Given the description of an element on the screen output the (x, y) to click on. 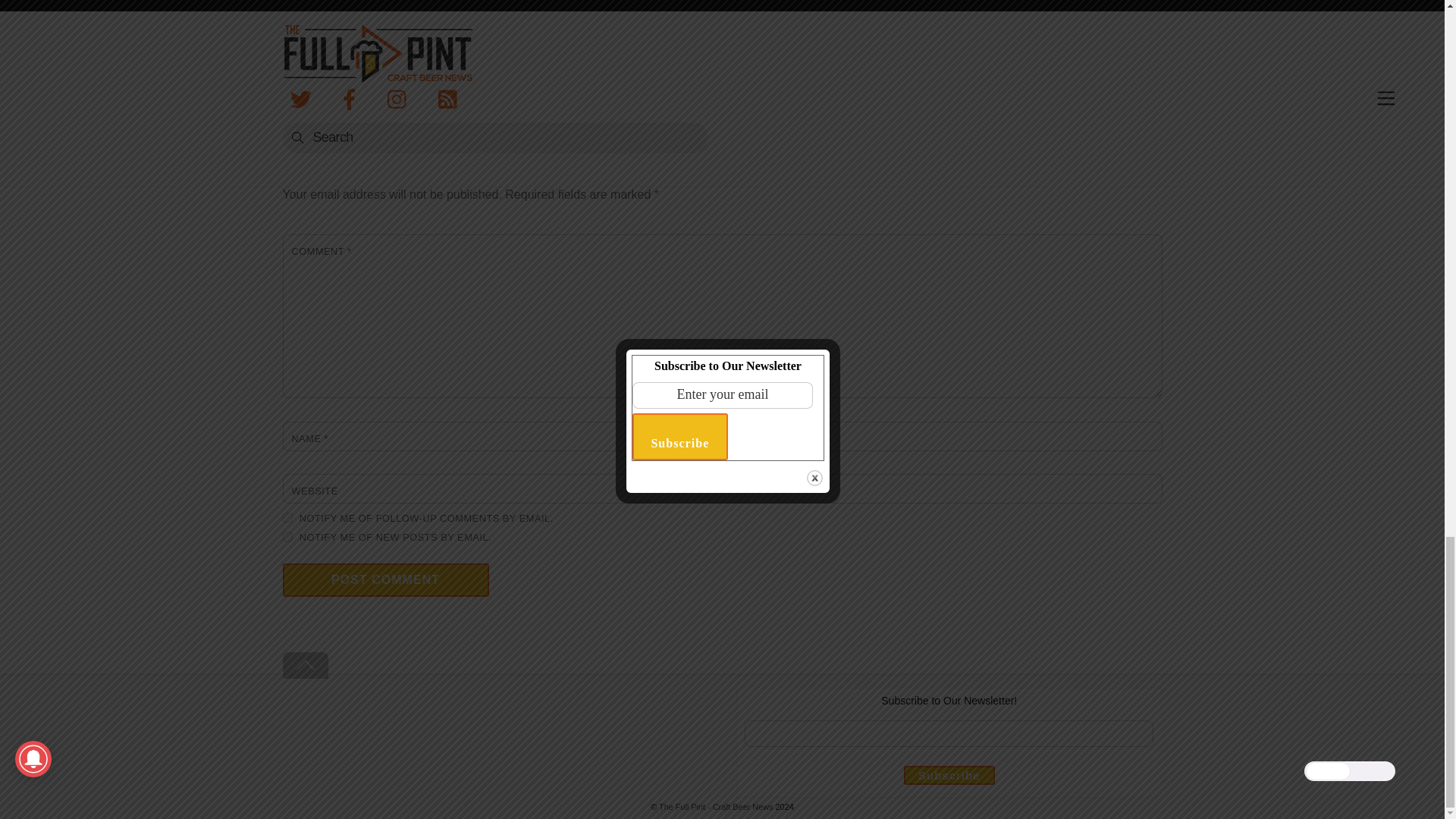
Subscribe (949, 774)
Post Comment (384, 580)
